Given the description of an element on the screen output the (x, y) to click on. 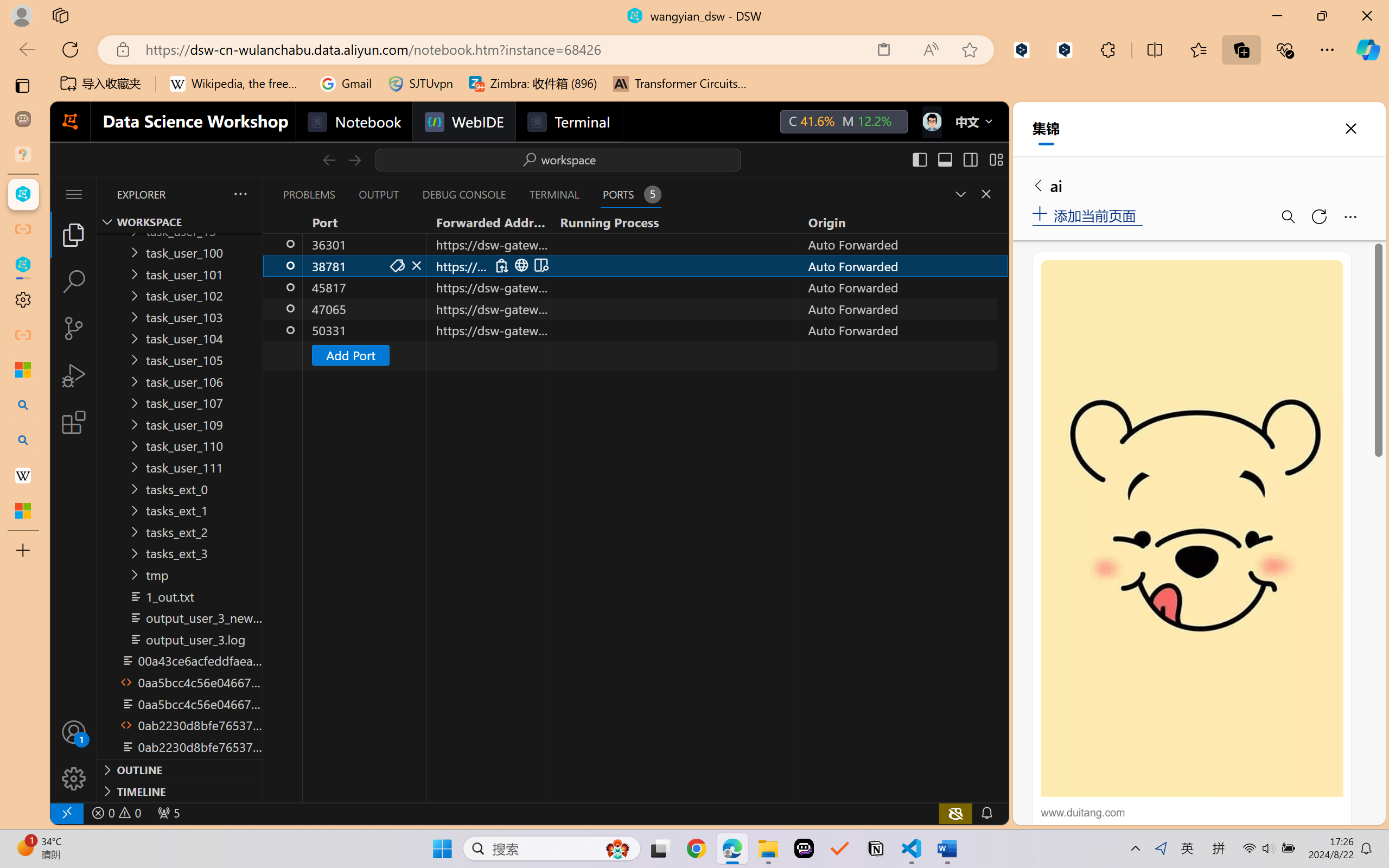
Stop Forwarding Port (Delete) (416, 265)
Run and Debug (Ctrl+Shift+D) (73, 375)
Forwarded Ports: 36301, 47065, 38781, 45817, 50331 (167, 812)
Wikipedia, the free encyclopedia (236, 83)
Restore Panel Size (959, 193)
Timeline Section (179, 791)
